Given the description of an element on the screen output the (x, y) to click on. 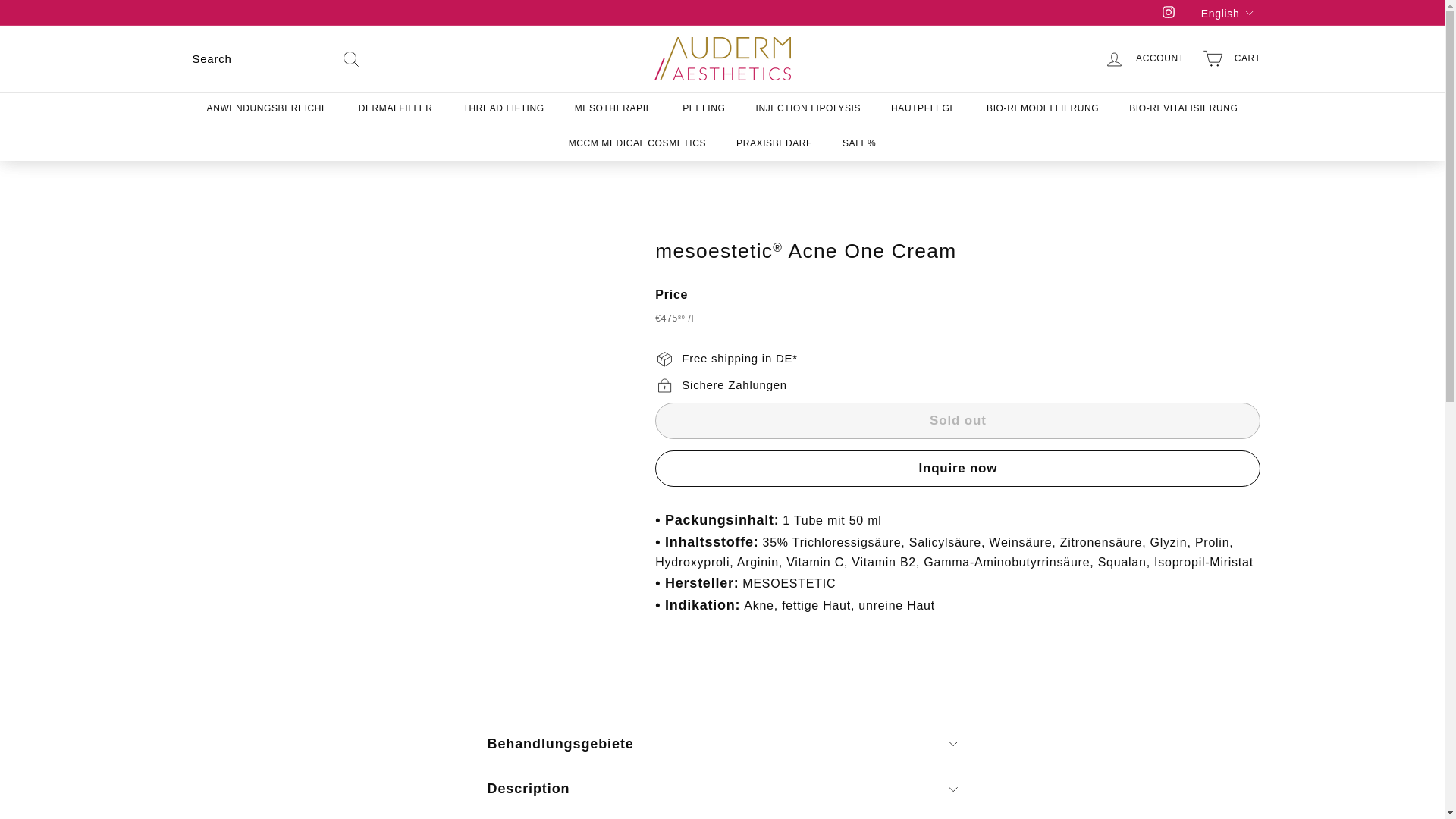
ACCOUNT (1143, 58)
ANWENDUNGSBEREICHE (267, 108)
DERMALFILLER (395, 108)
English (1230, 12)
